Given the description of an element on the screen output the (x, y) to click on. 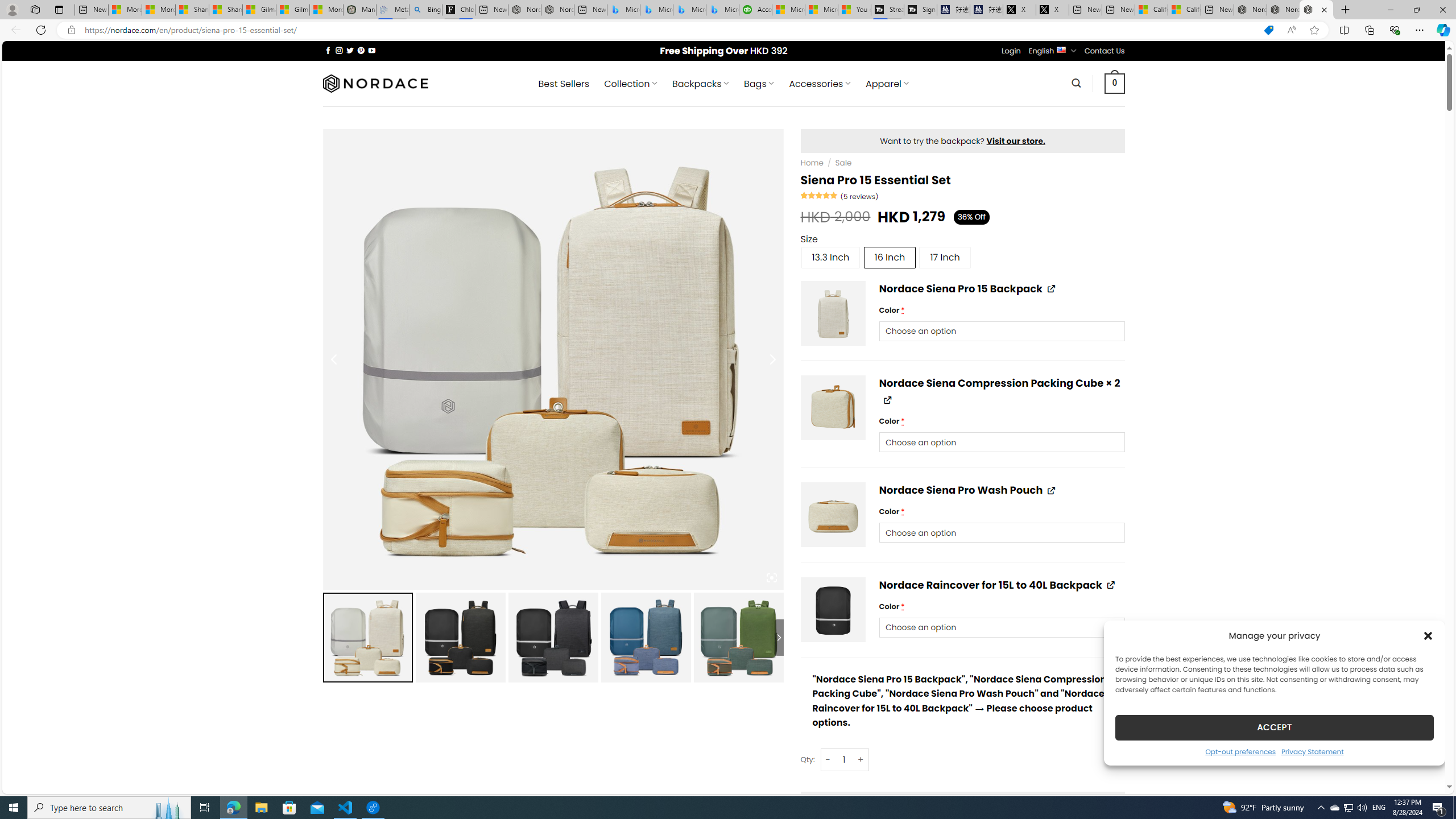
Microsoft Bing Travel - Stays in Bangkok, Bangkok, Thailand (656, 9)
Siena Pro 15 Essential Set quantity (843, 759)
Follow on Facebook (327, 49)
Accounting Software for Accountants, CPAs and Bookkeepers (755, 9)
Chloe Sorvino (458, 9)
13.3 Inch (830, 257)
Nordace - Best Sellers (1249, 9)
Visit our store. (1015, 140)
ML25400-1(1) (833, 609)
  0   (1115, 83)
